Given the description of an element on the screen output the (x, y) to click on. 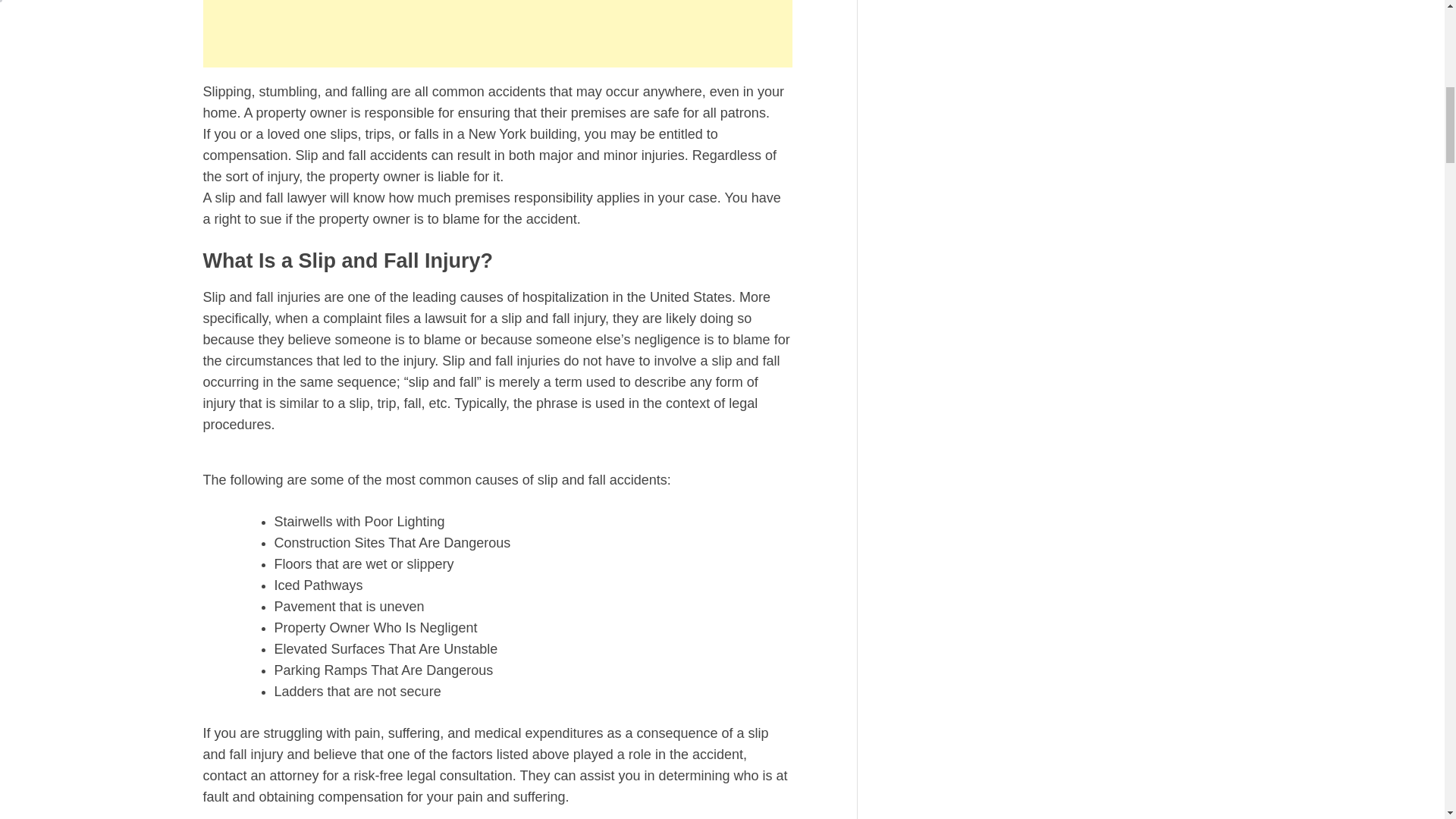
Advertisement (497, 33)
